Given the description of an element on the screen output the (x, y) to click on. 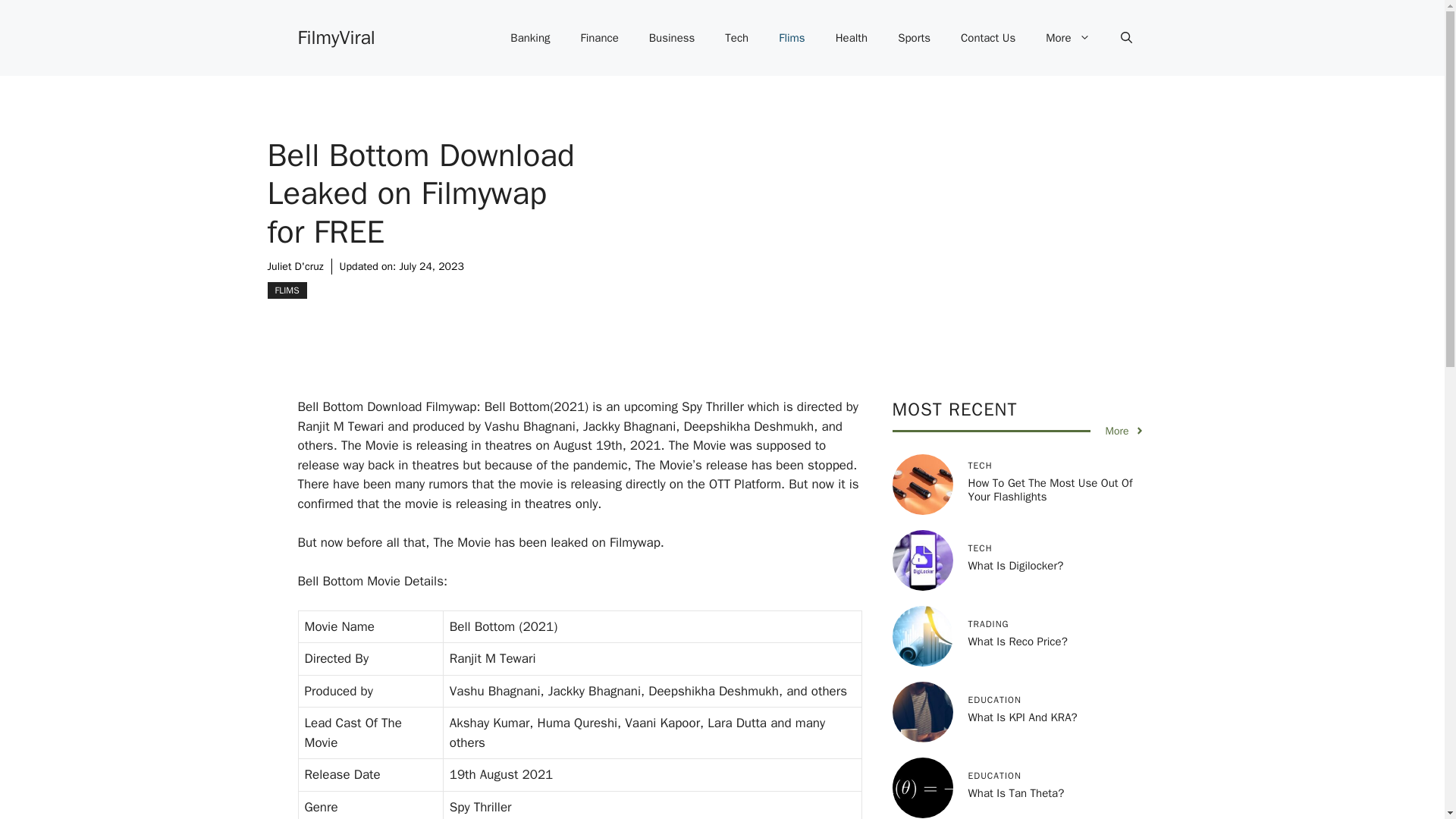
Juliet D'cruz (294, 266)
More (1124, 430)
Sports (913, 37)
How To Get The Most Use Out Of Your Flashlights (1050, 489)
Finance (598, 37)
What Is Digilocker? (1015, 565)
FLIMS (285, 289)
FilmyViral (335, 37)
More (1067, 37)
Banking (529, 37)
